Given the description of an element on the screen output the (x, y) to click on. 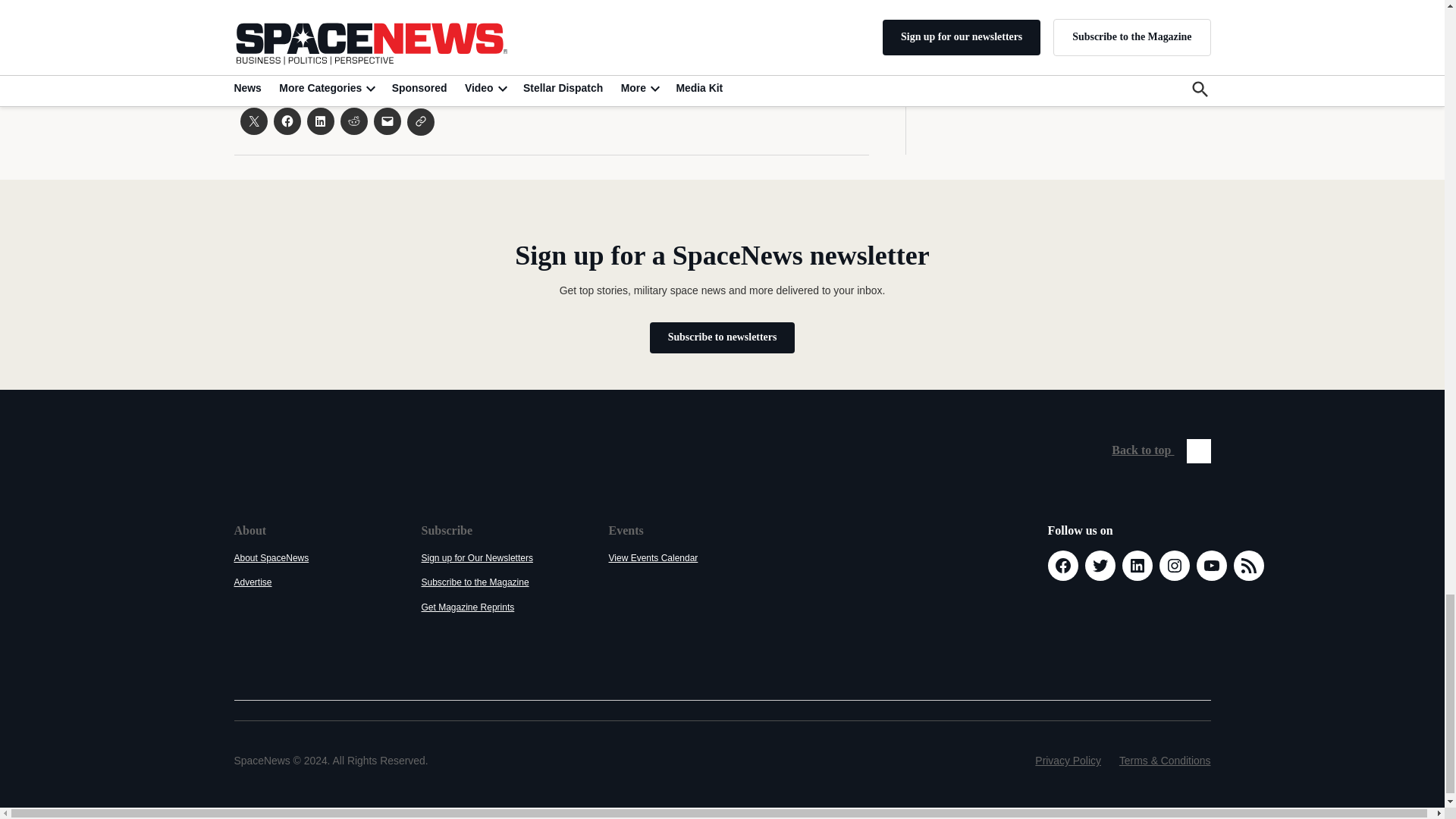
Click to share on LinkedIn (319, 121)
Click to share on X (253, 121)
Click to email a link to a friend (386, 121)
Click to share on Reddit (352, 121)
Click to share on Clipboard (419, 121)
Click to share on Facebook (286, 121)
